Given the description of an element on the screen output the (x, y) to click on. 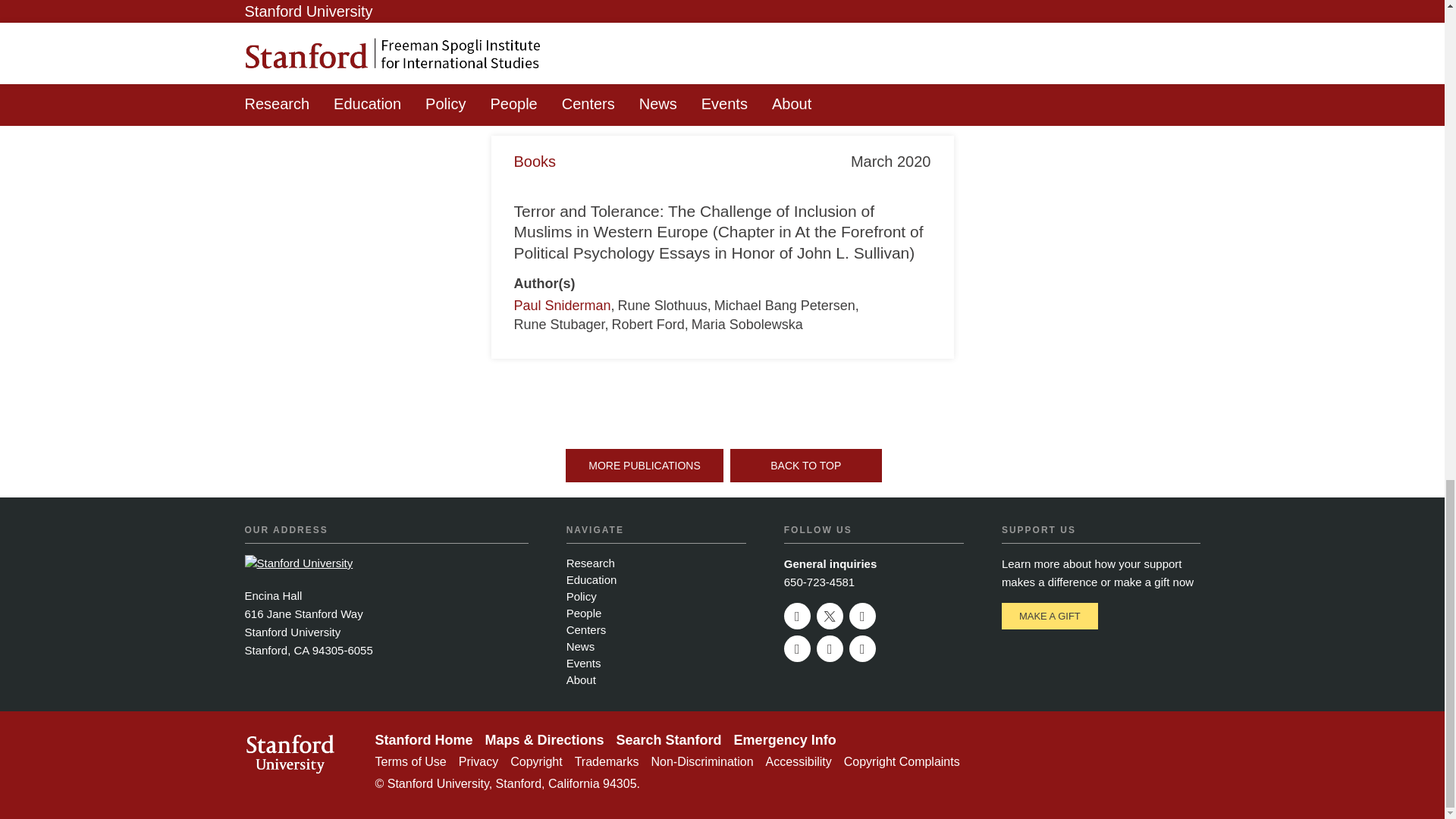
Youtube (797, 648)
People (584, 612)
Facebook (862, 615)
BACK TO TOP (806, 465)
Research (590, 562)
Policy (581, 595)
News (580, 645)
MORE PUBLICATIONS (644, 465)
Paul Sniderman (562, 305)
Centers (586, 629)
